Given the description of an element on the screen output the (x, y) to click on. 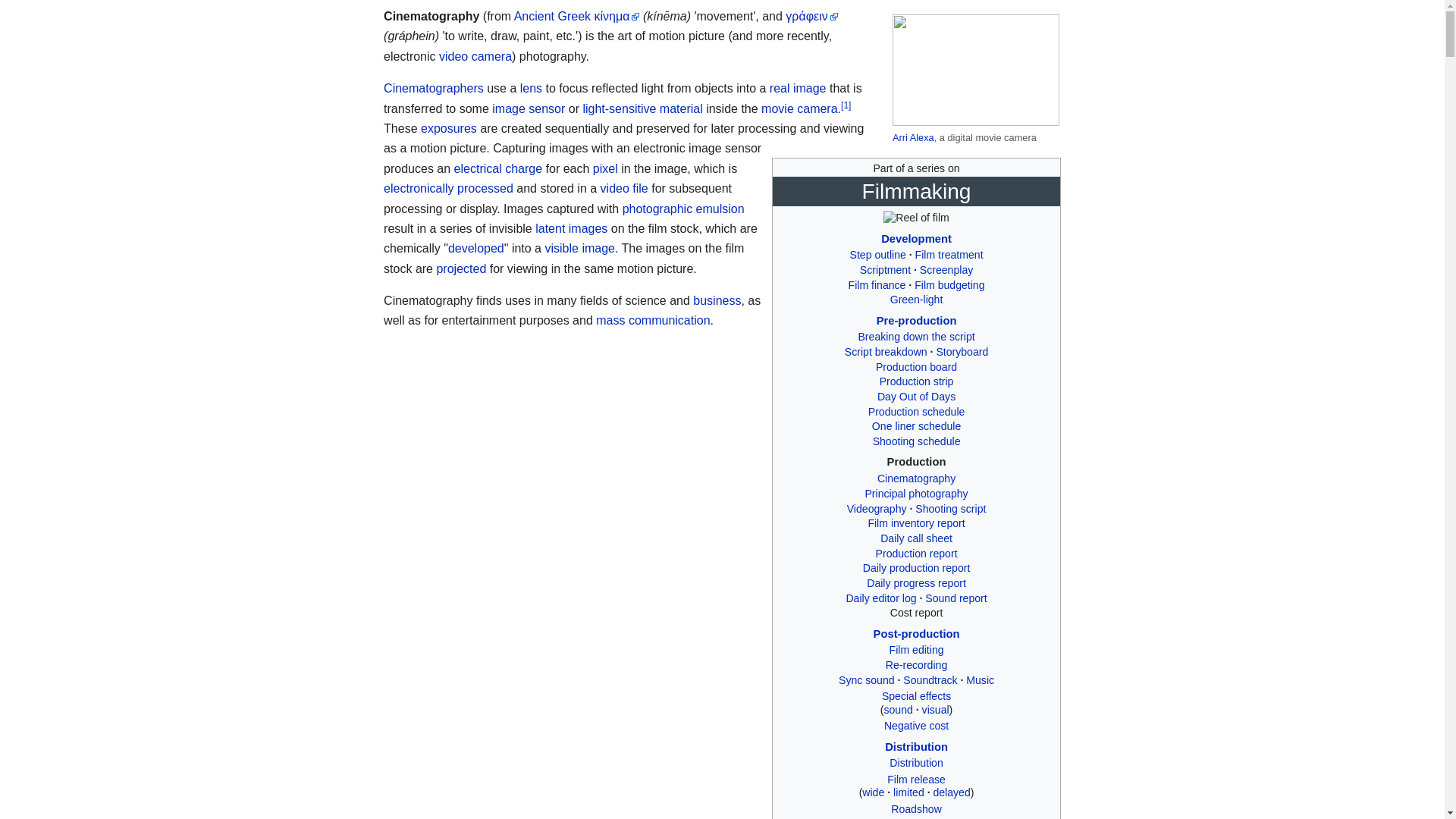
Daily progress report (916, 582)
Production board (916, 367)
Storyboard (962, 351)
Principal photography (916, 493)
Daily call sheet (916, 538)
Film budgeting (949, 285)
Sync sound (866, 680)
Post-production (916, 633)
Script breakdown (885, 351)
Production schedule (916, 411)
Film editing (916, 649)
Development (916, 237)
Storyboard (962, 351)
Daily production report (917, 567)
Screenplay (946, 269)
